Given the description of an element on the screen output the (x, y) to click on. 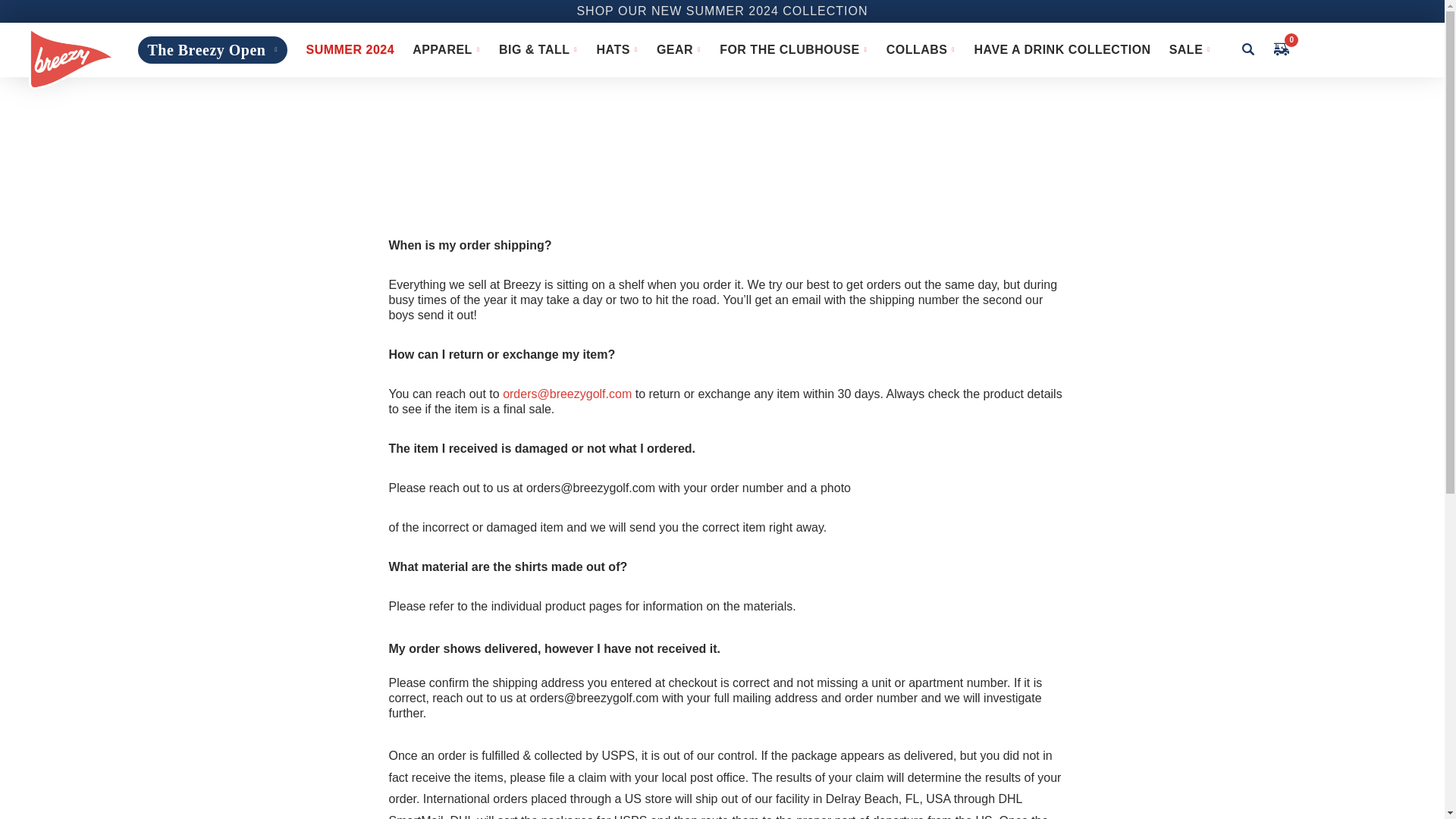
Breezy Golf (71, 58)
